Given the description of an element on the screen output the (x, y) to click on. 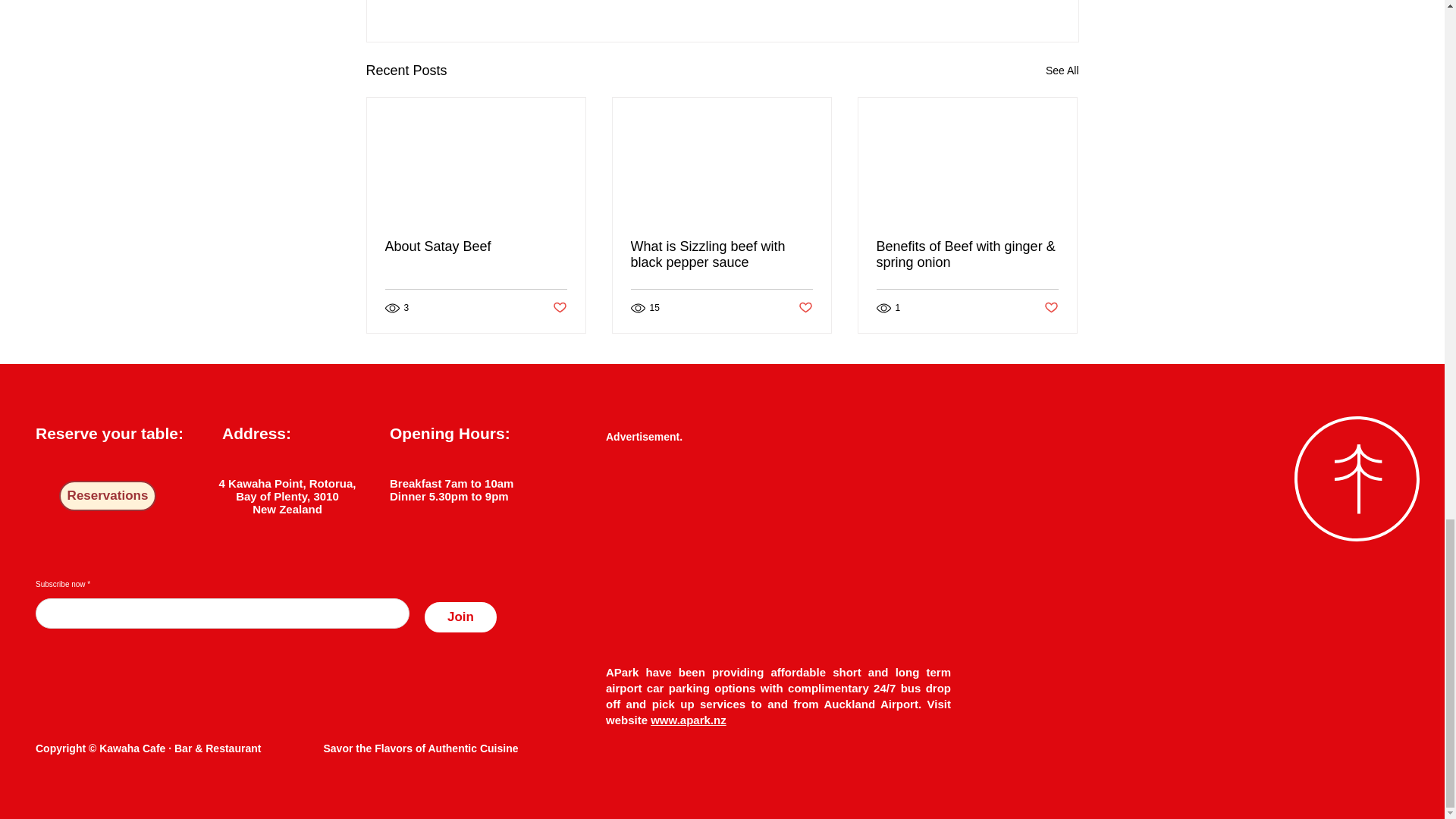
www.apark.nz (687, 719)
See All (1061, 70)
4 Kawaha Point, Rotorua, (287, 482)
Reservations (107, 495)
Post not marked as liked (287, 502)
About Satay Beef (558, 308)
Join (476, 246)
Post not marked as liked (460, 616)
What is Sizzling beef with black pepper sauce (1050, 308)
Post not marked as liked (721, 255)
Savor the Flavors of Authentic Cuisine (804, 308)
